Given the description of an element on the screen output the (x, y) to click on. 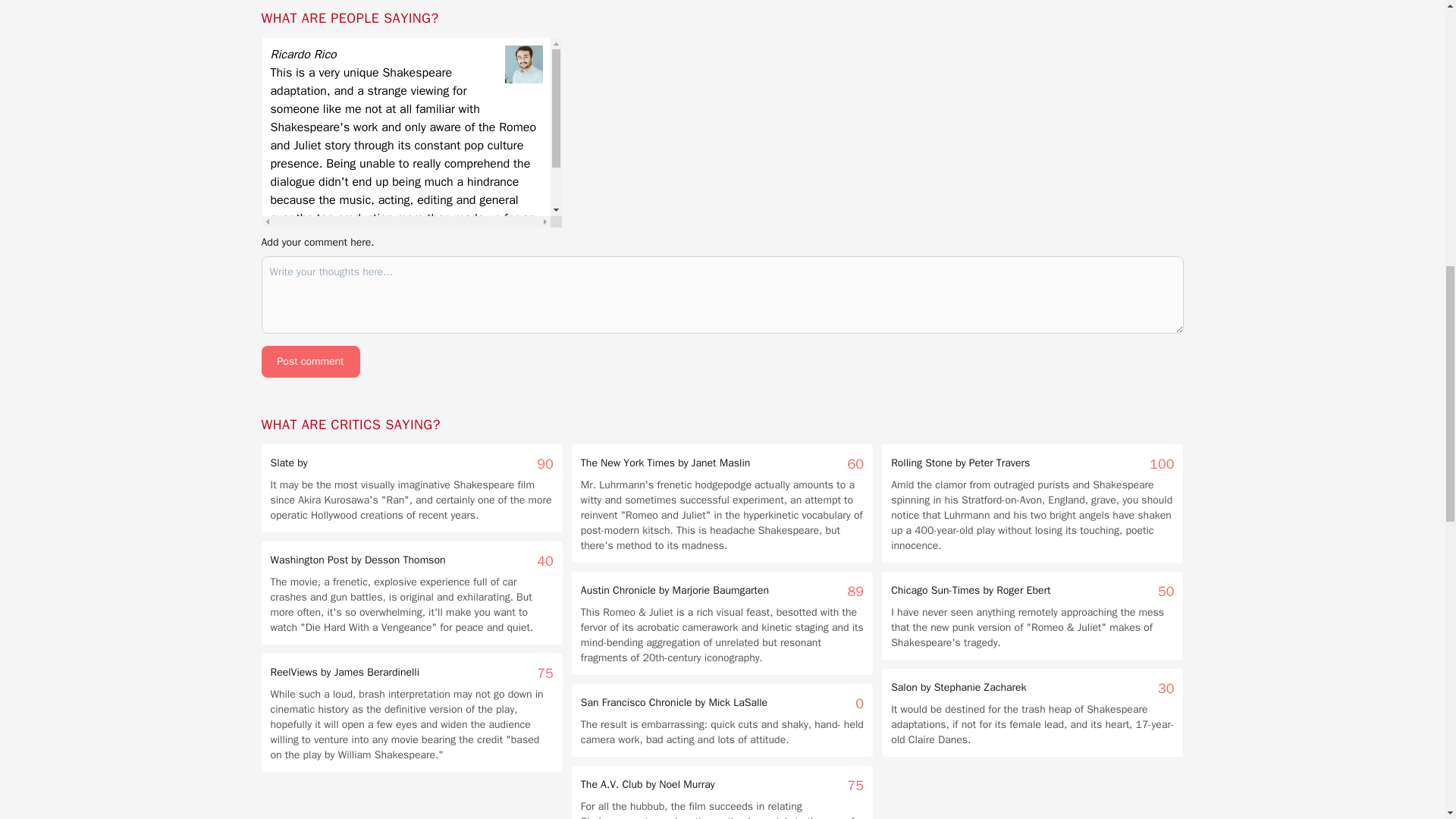
Post comment (309, 361)
